Given the description of an element on the screen output the (x, y) to click on. 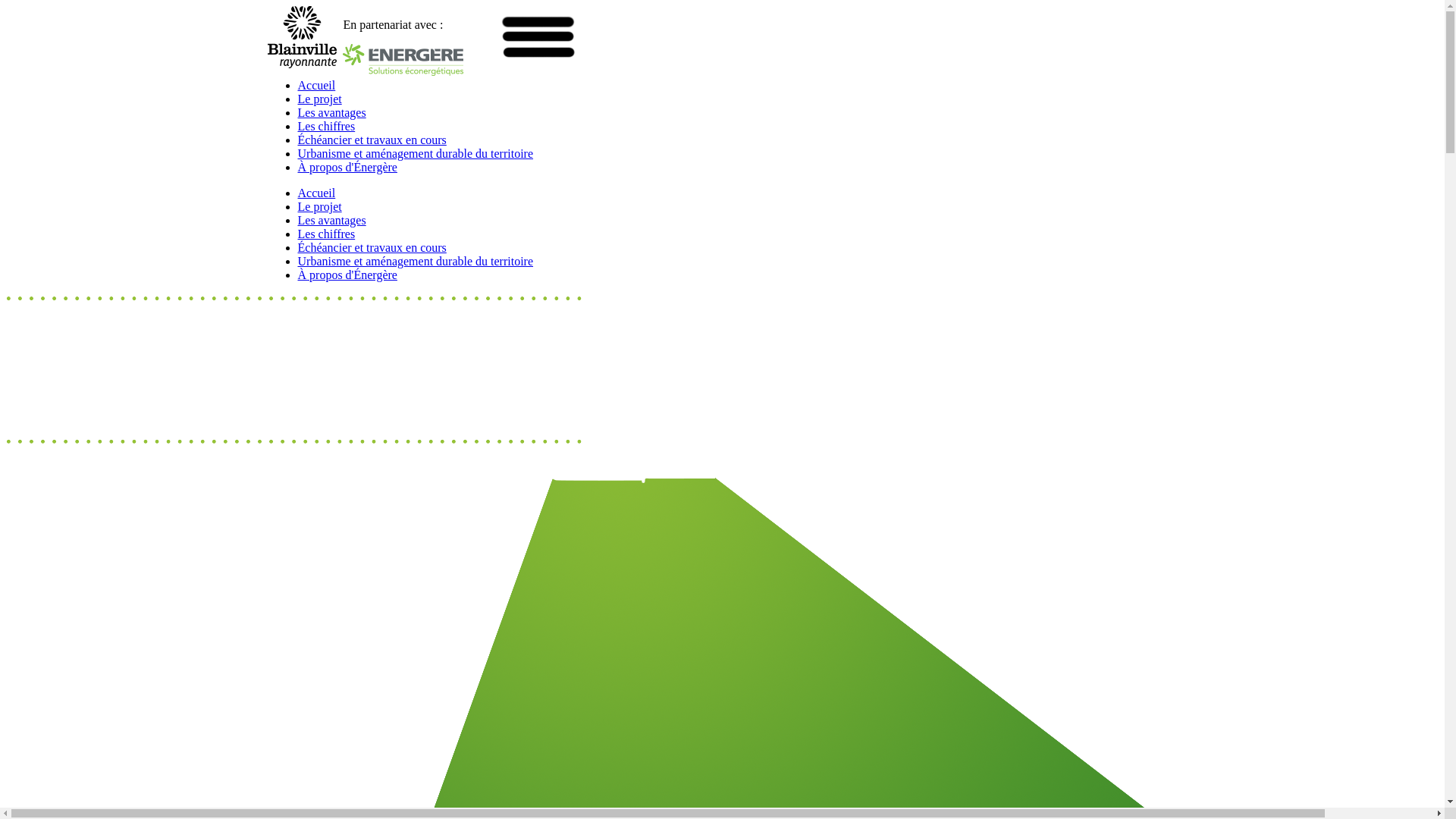
Le projet Element type: text (319, 98)
Le projet Element type: text (319, 206)
Les chiffres Element type: text (325, 125)
Les avantages Element type: text (331, 112)
Les chiffres Element type: text (325, 233)
Les avantages Element type: text (331, 219)
Accueil Element type: text (316, 84)
Accueil Element type: text (316, 192)
